Given the description of an element on the screen output the (x, y) to click on. 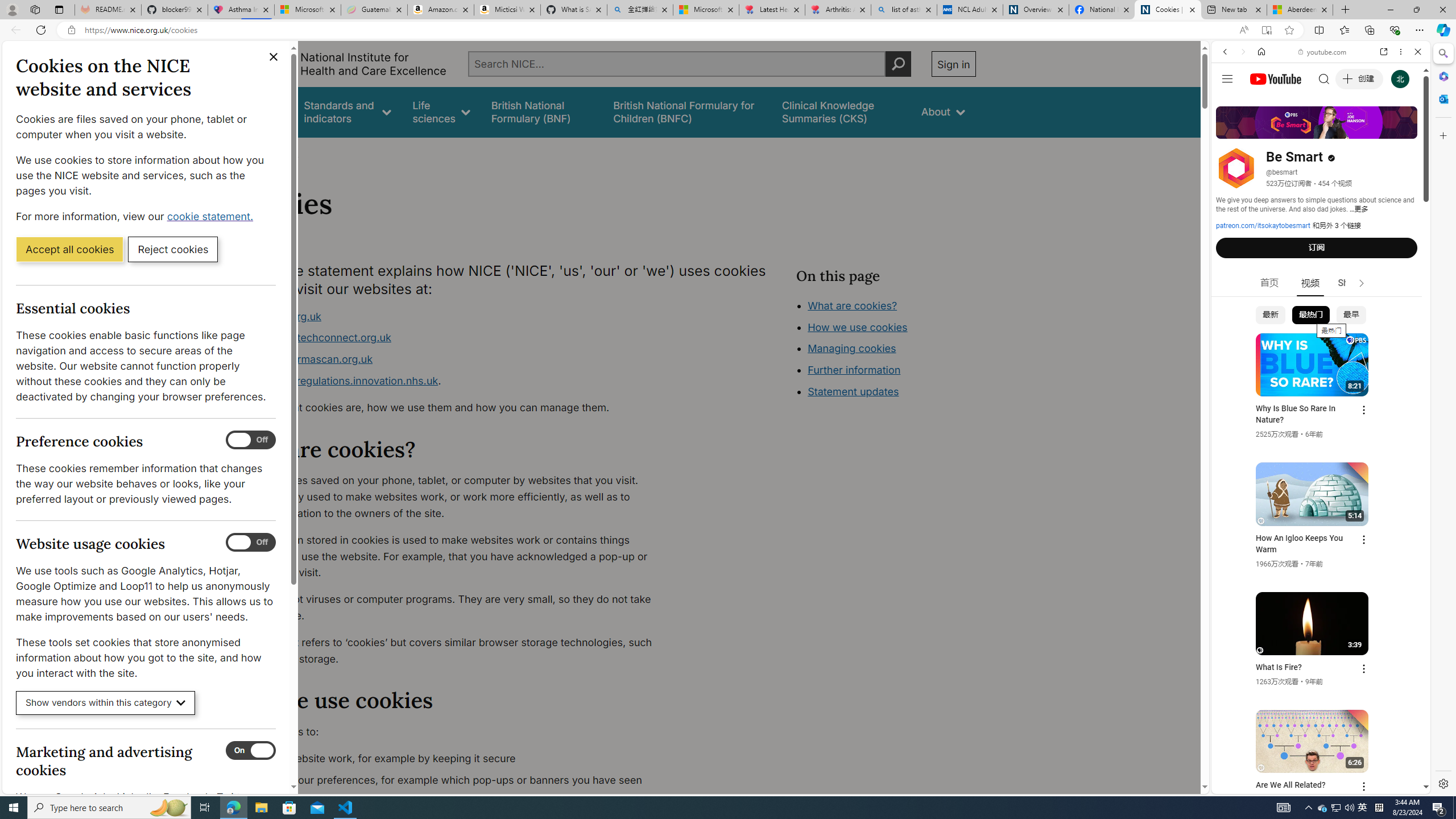
Further information (854, 369)
Life sciences (440, 111)
Google (1320, 281)
patreon.com/itsokaytobesmart (1262, 225)
Shorts (1351, 283)
Managing cookies (852, 348)
Guidance (260, 111)
